Given the description of an element on the screen output the (x, y) to click on. 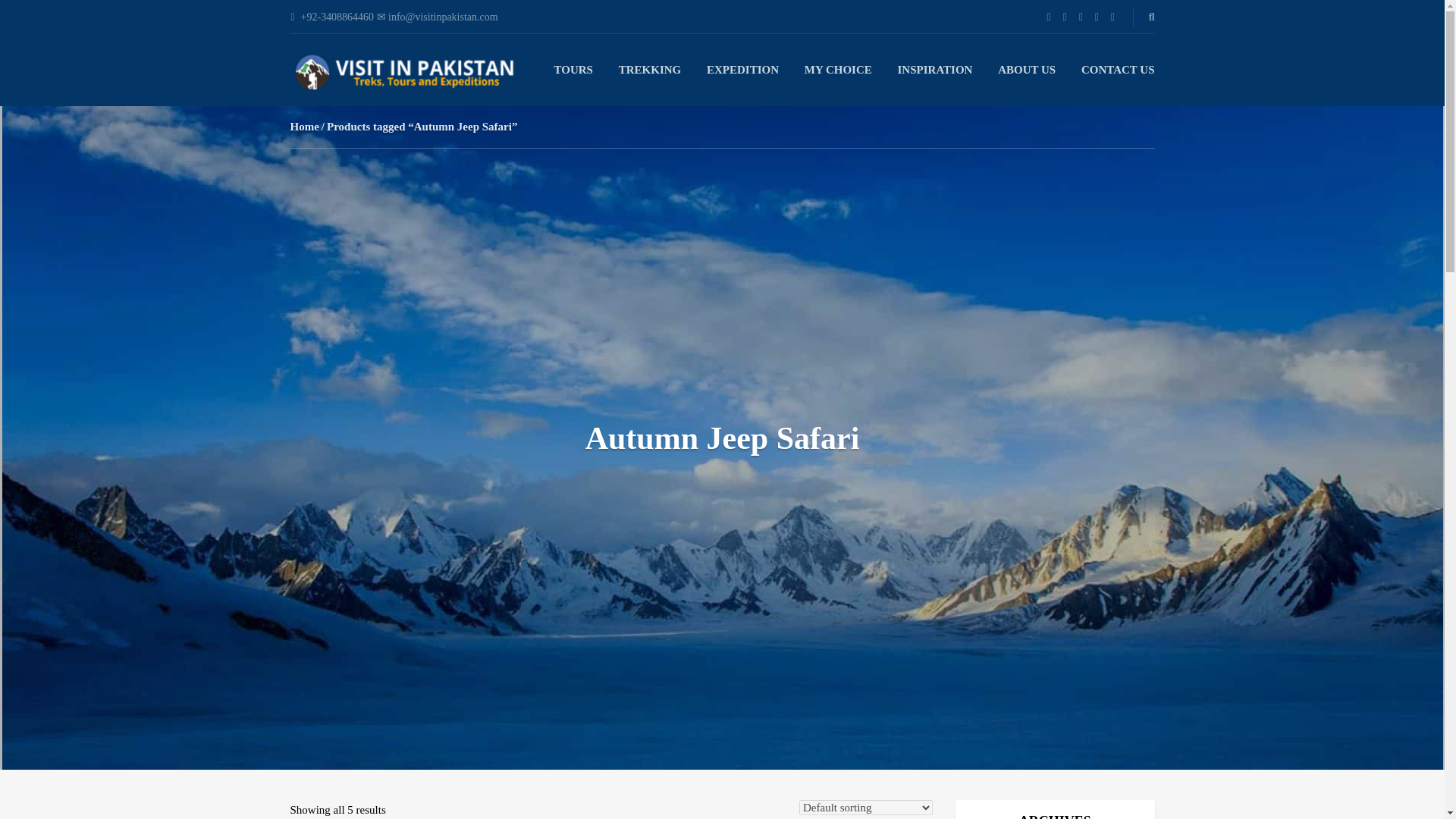
INSPIRATION (935, 69)
TREKKING (649, 69)
Home (303, 126)
EXPEDITION (742, 69)
ABOUT US (1026, 69)
MY CHOICE (838, 69)
CONTACT US (1117, 69)
TOURS (573, 69)
